Given the description of an element on the screen output the (x, y) to click on. 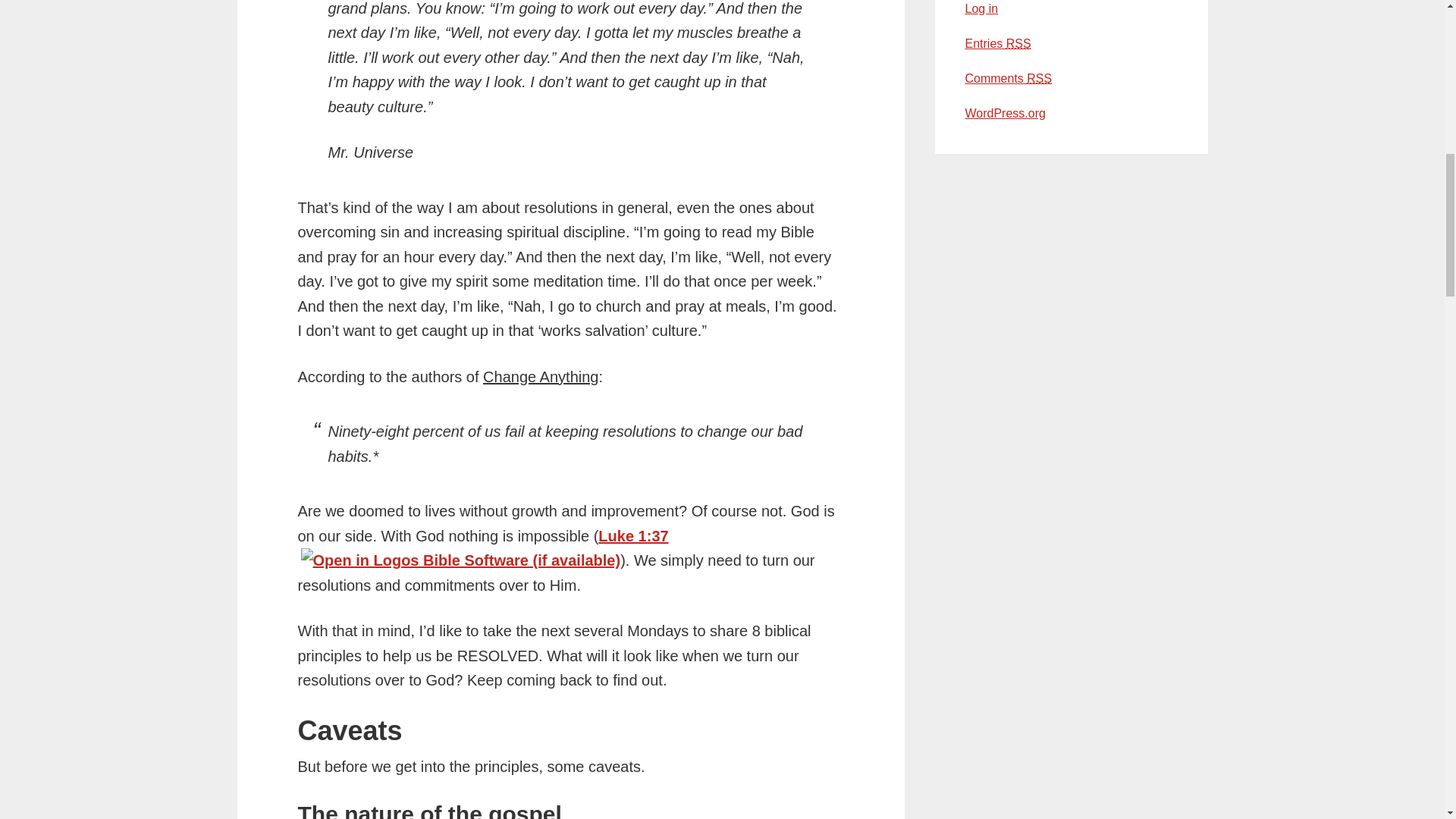
Really Simple Syndication (1038, 78)
Really Simple Syndication (1018, 42)
Luke 1:37 (633, 535)
